Given the description of an element on the screen output the (x, y) to click on. 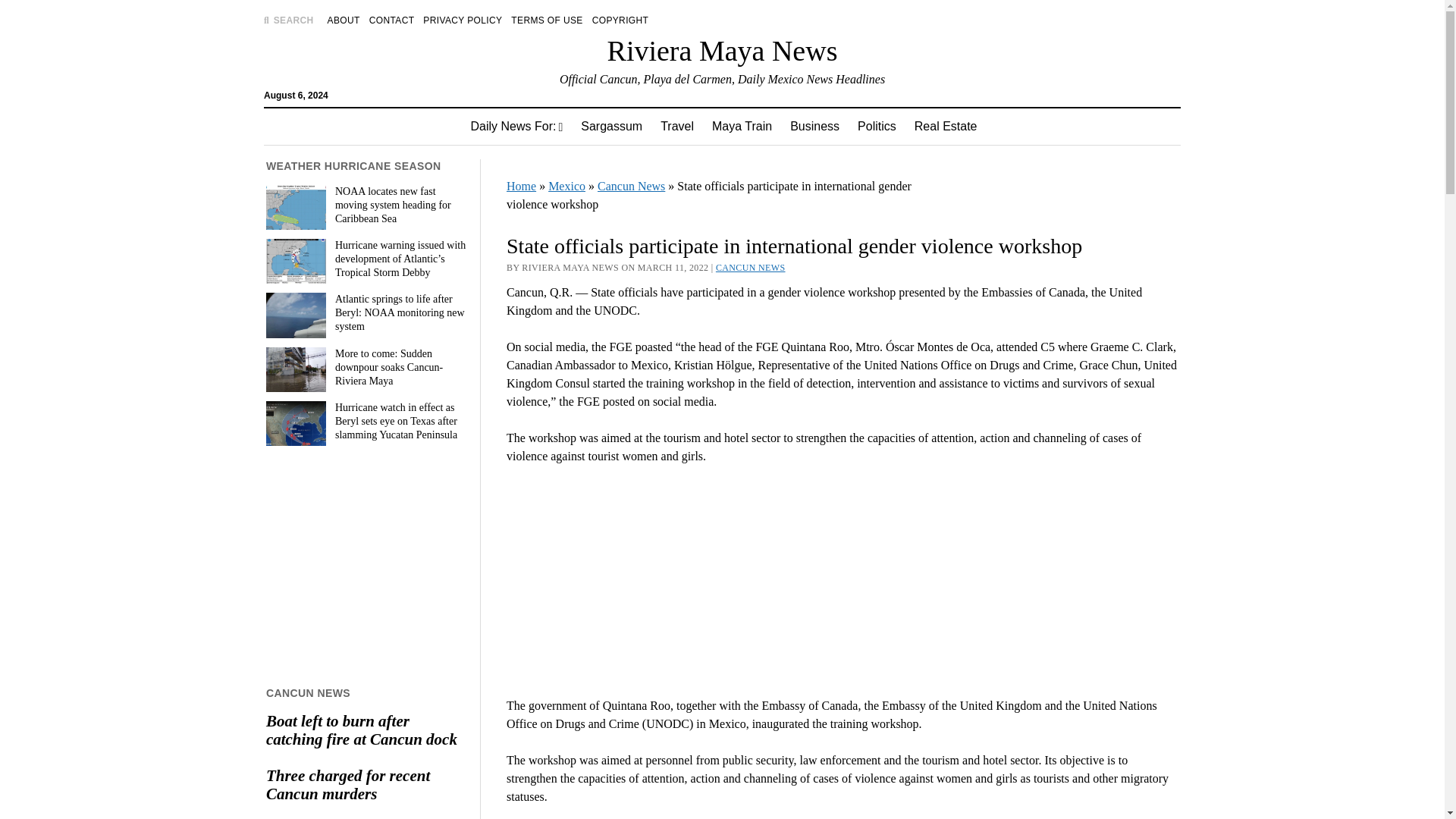
Business (814, 126)
COPYRIGHT (620, 20)
Daily News For: (516, 126)
PRIVACY POLICY (462, 20)
View all posts in Cancun News (751, 267)
Sargassum (611, 126)
Search (945, 129)
SEARCH (288, 20)
Maya Train (741, 126)
Riviera Maya News (722, 50)
